Given the description of an element on the screen output the (x, y) to click on. 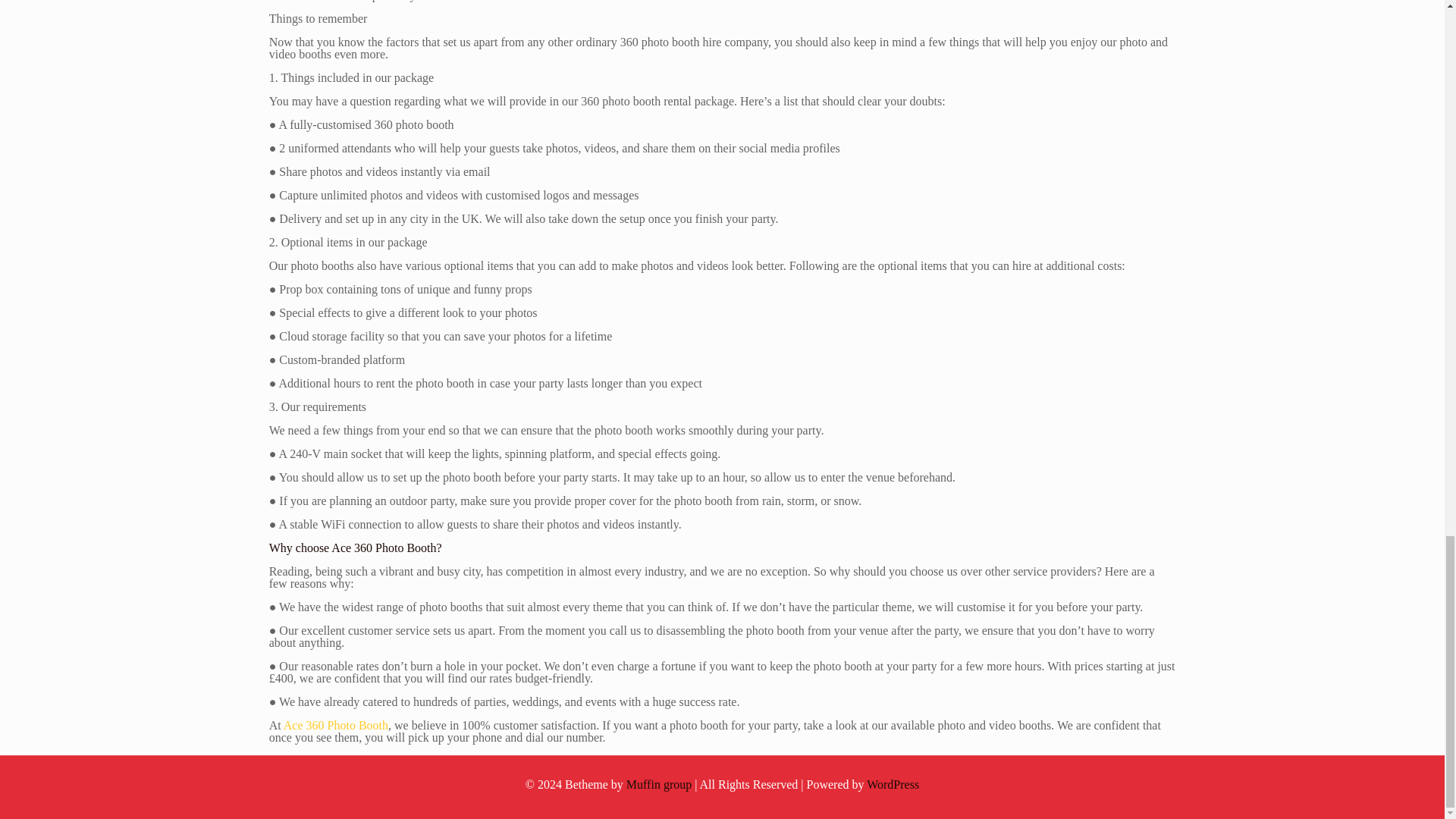
home (335, 725)
WordPress (892, 784)
Muffin group (658, 784)
Ace 360 Photo Booth (335, 725)
